Given the description of an element on the screen output the (x, y) to click on. 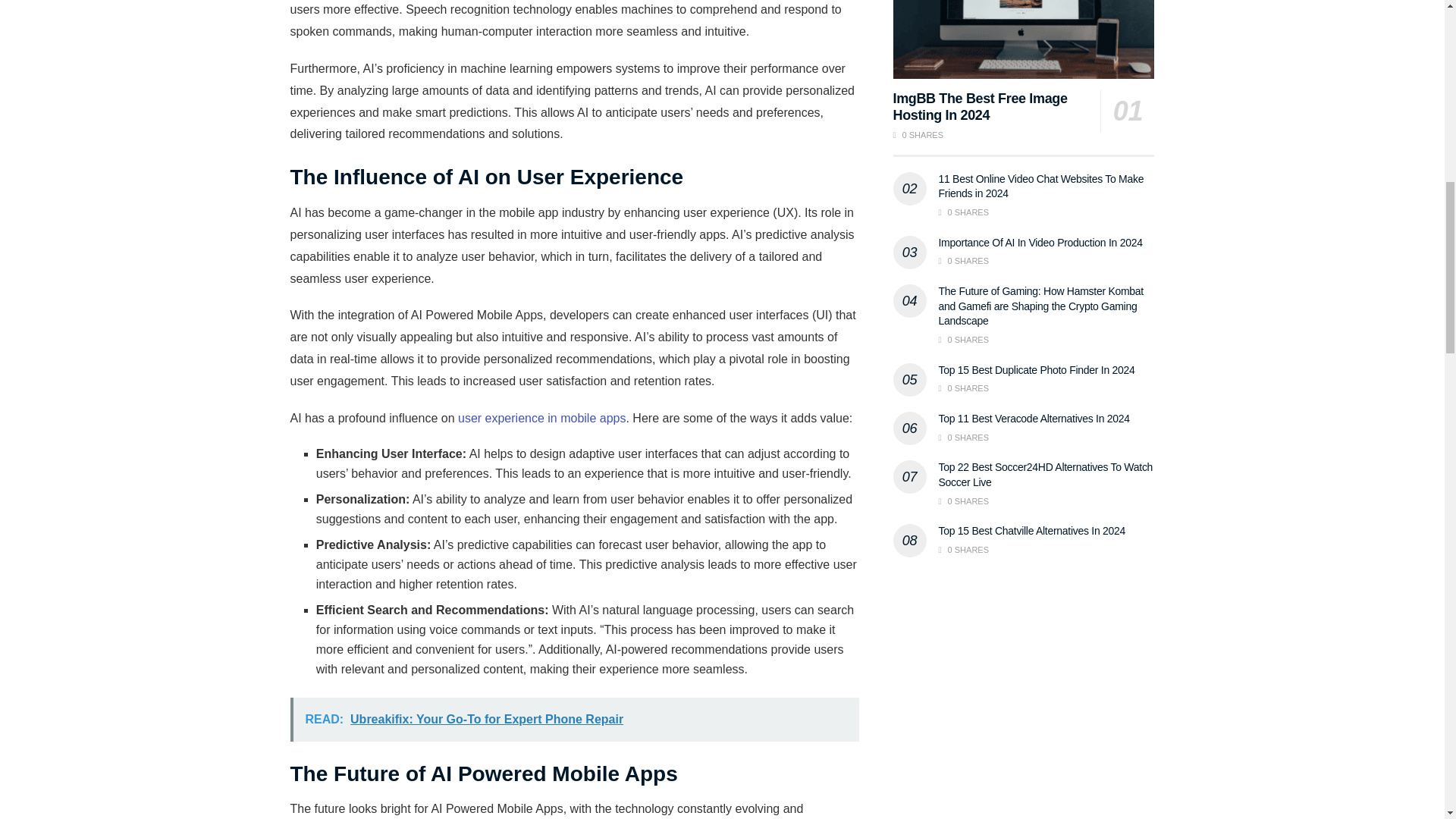
user experience in mobile apps (542, 418)
READ:  Ubreakifix: Your Go-To for Expert Phone Repair (574, 719)
